Given the description of an element on the screen output the (x, y) to click on. 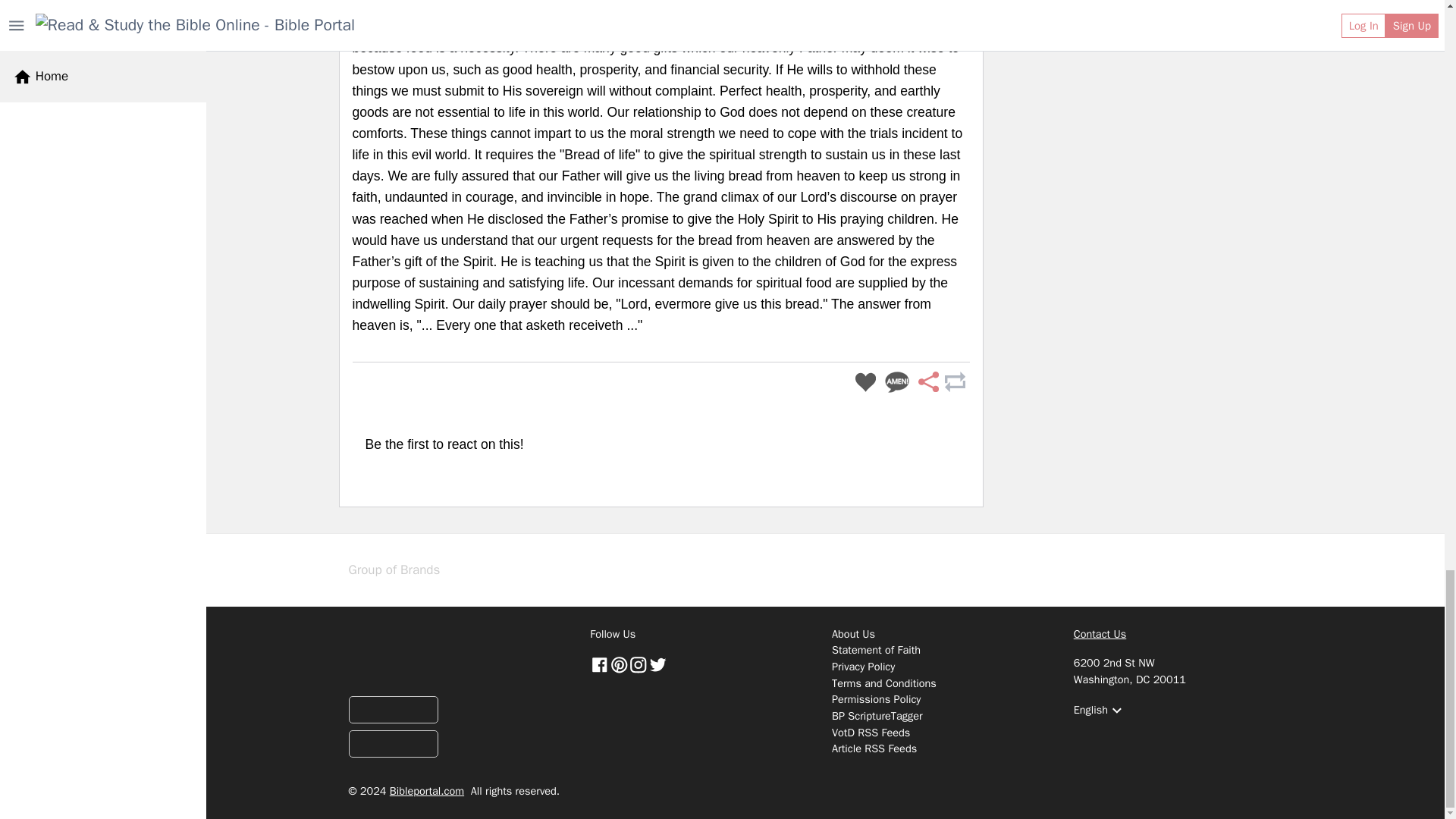
Repost (954, 382)
Amen (897, 382)
Like (865, 382)
